Given the description of an element on the screen output the (x, y) to click on. 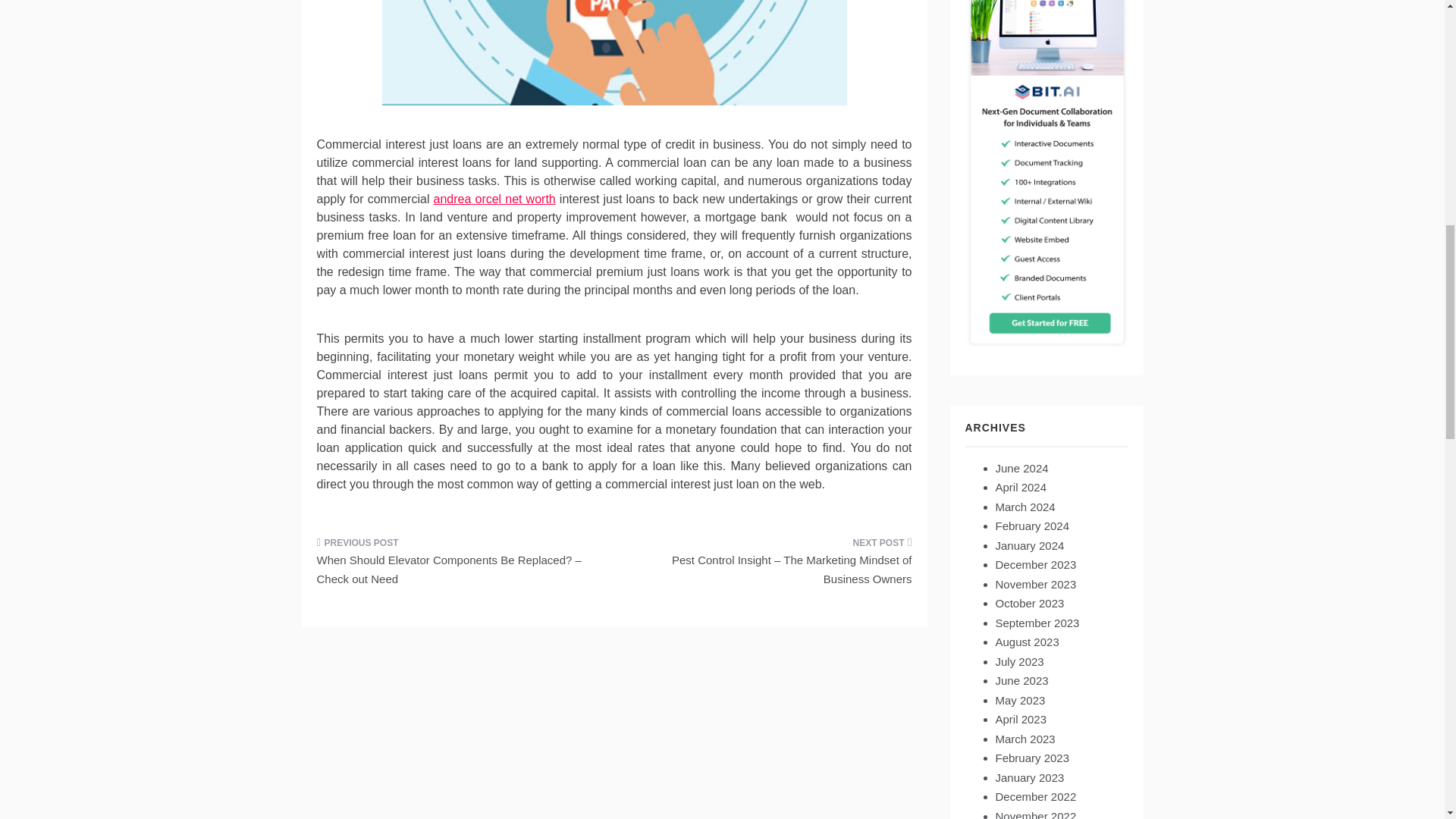
January 2023 (1029, 777)
January 2024 (1029, 545)
July 2023 (1018, 661)
August 2023 (1026, 641)
December 2023 (1034, 563)
June 2023 (1021, 680)
October 2023 (1029, 603)
September 2023 (1036, 622)
February 2024 (1031, 525)
June 2024 (1021, 468)
February 2023 (1031, 757)
March 2023 (1024, 738)
March 2024 (1024, 506)
andrea orcel net worth (494, 198)
April 2024 (1020, 486)
